Given the description of an element on the screen output the (x, y) to click on. 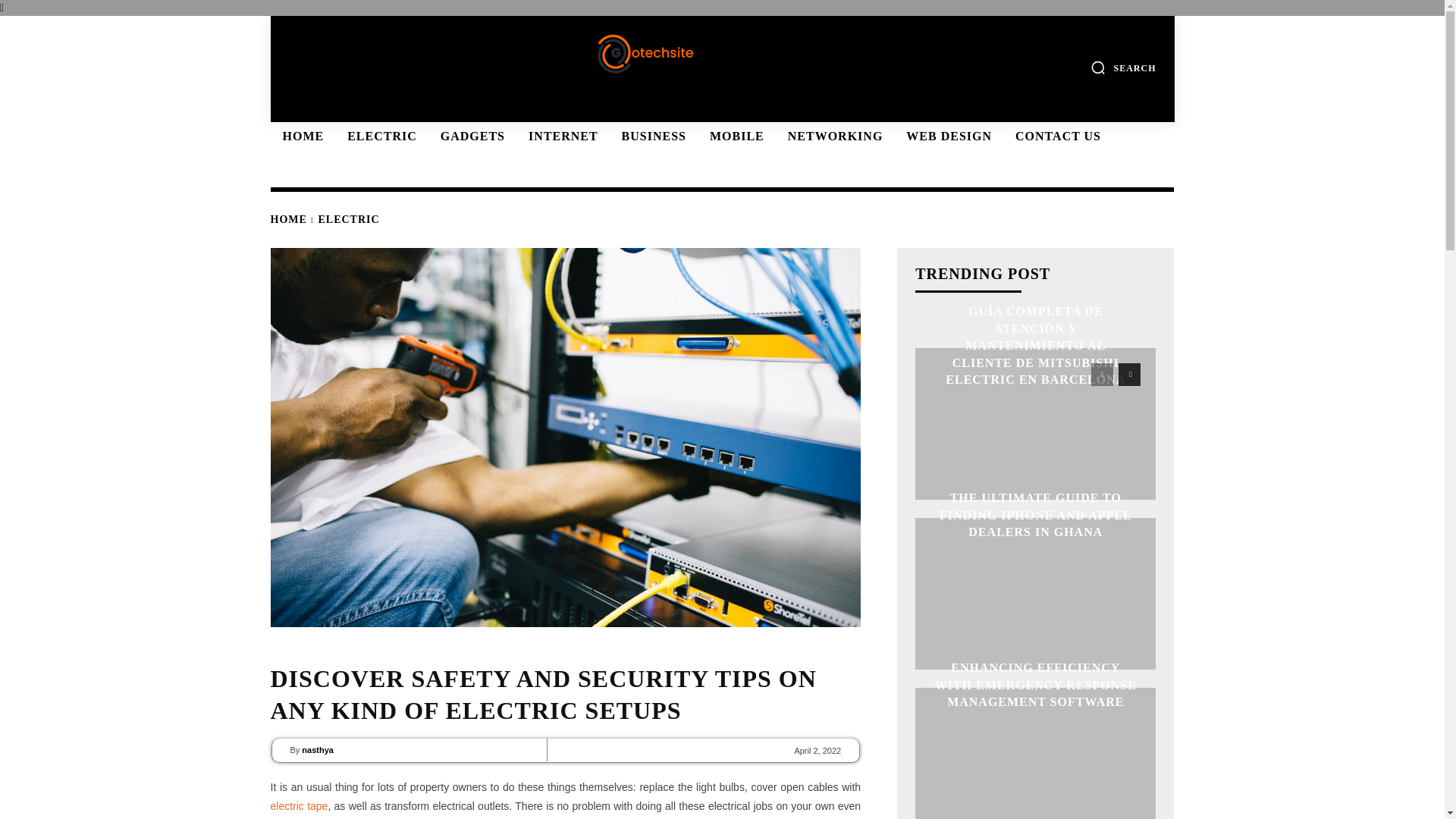
ELECTRIC (349, 219)
MOBILE (734, 136)
nasthya (317, 749)
HOME (300, 136)
HOME (287, 219)
ELECTRIC (379, 136)
CONTACT US (1055, 136)
GADGETS (470, 136)
NETWORKING (833, 136)
WEB DESIGN (945, 136)
electric tape (298, 806)
SEARCH (1123, 67)
